Given the description of an element on the screen output the (x, y) to click on. 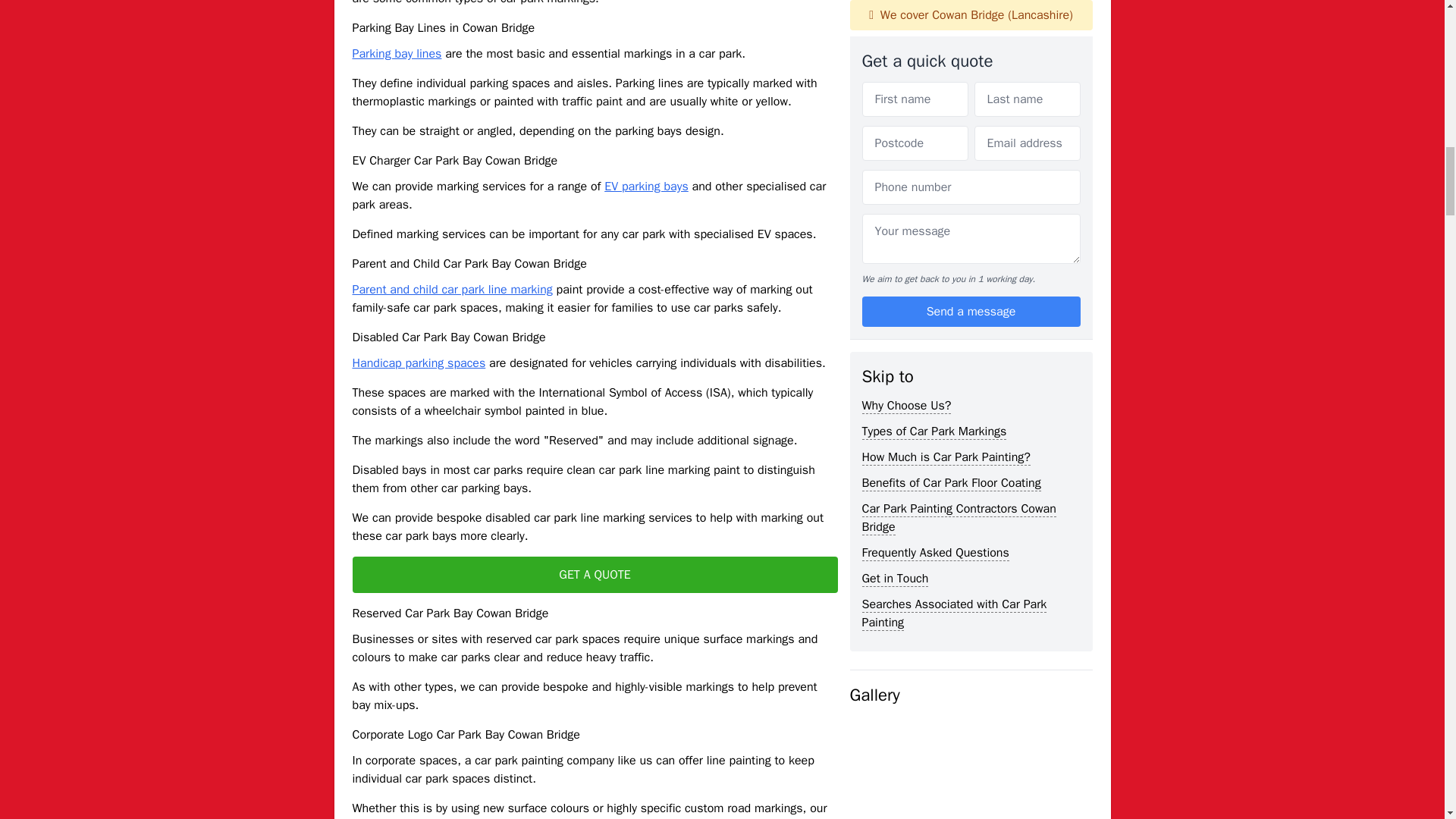
GET A QUOTE (594, 574)
Parent and child car park line marking (451, 289)
Handicap parking spaces (418, 363)
EV parking bays (646, 186)
Parking bay lines (396, 53)
